Given the description of an element on the screen output the (x, y) to click on. 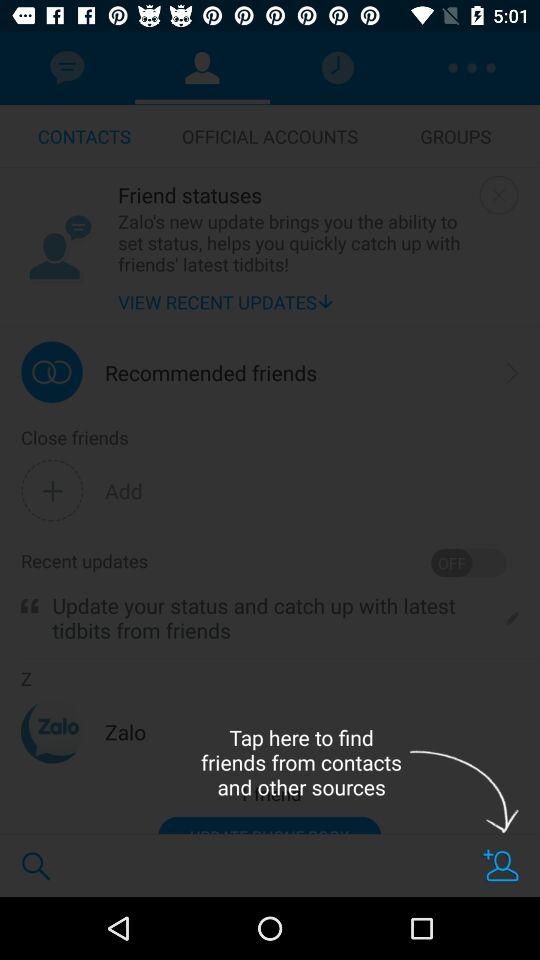
add friend (501, 865)
